Given the description of an element on the screen output the (x, y) to click on. 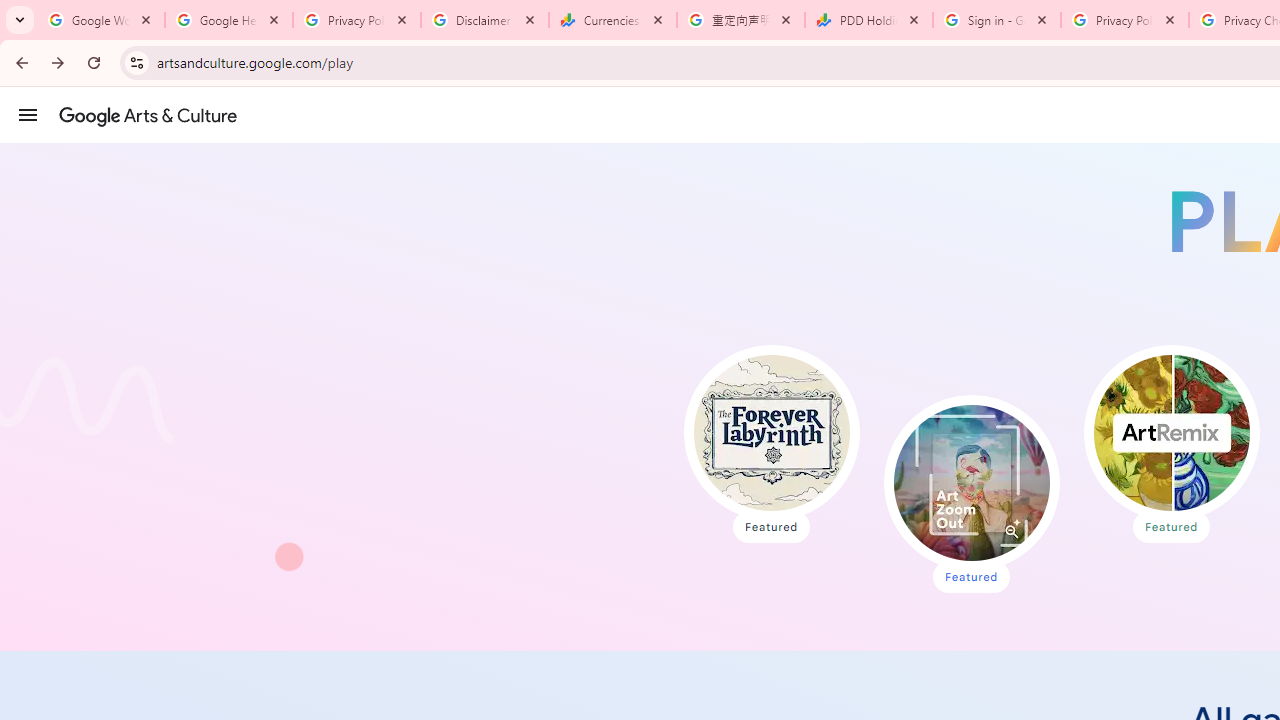
Google Workspace Admin Community (101, 20)
Menu (27, 114)
Currencies - Google Finance (613, 20)
Google Arts & Culture (148, 115)
Sign in - Google Accounts (997, 20)
